Given the description of an element on the screen output the (x, y) to click on. 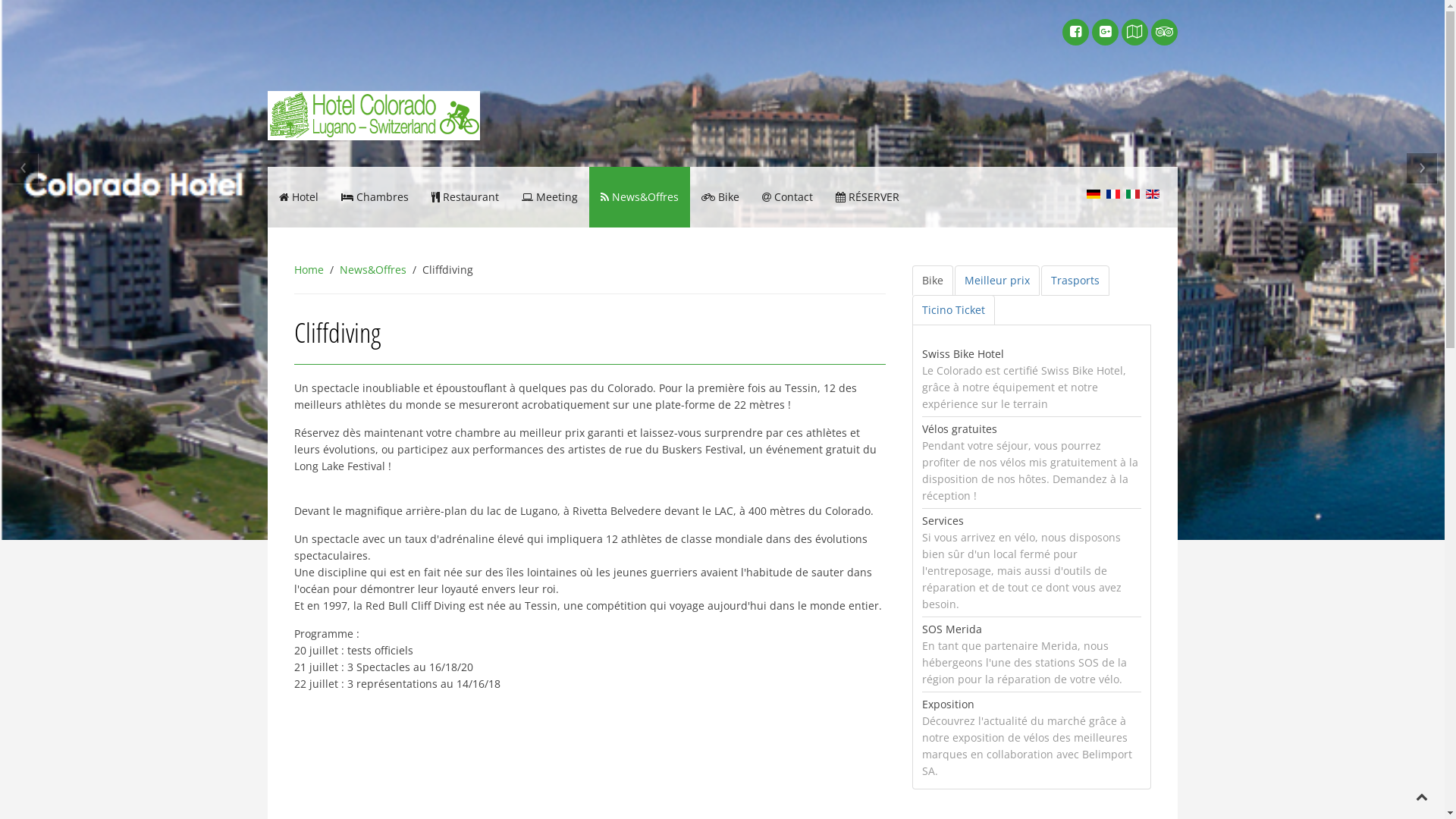
News&Offres Element type: text (638, 196)
Italiano (Italia) Element type: hover (1132, 193)
Bike Element type: text (720, 196)
Meeting Element type: text (548, 196)
Deutsch (Deutschland) Element type: hover (1092, 193)
English (UK) Element type: hover (1151, 193)
Restaurant Element type: text (465, 196)
Bike Element type: text (932, 280)
Ticino Ticket Element type: text (953, 309)
Trasports Element type: text (1075, 280)
Hotel Element type: text (297, 196)
Meilleur prix Element type: text (996, 280)
News&Offres Element type: text (372, 269)
Contact Element type: text (787, 196)
Chambres Element type: text (374, 196)
Home Element type: text (308, 269)
